Given the description of an element on the screen output the (x, y) to click on. 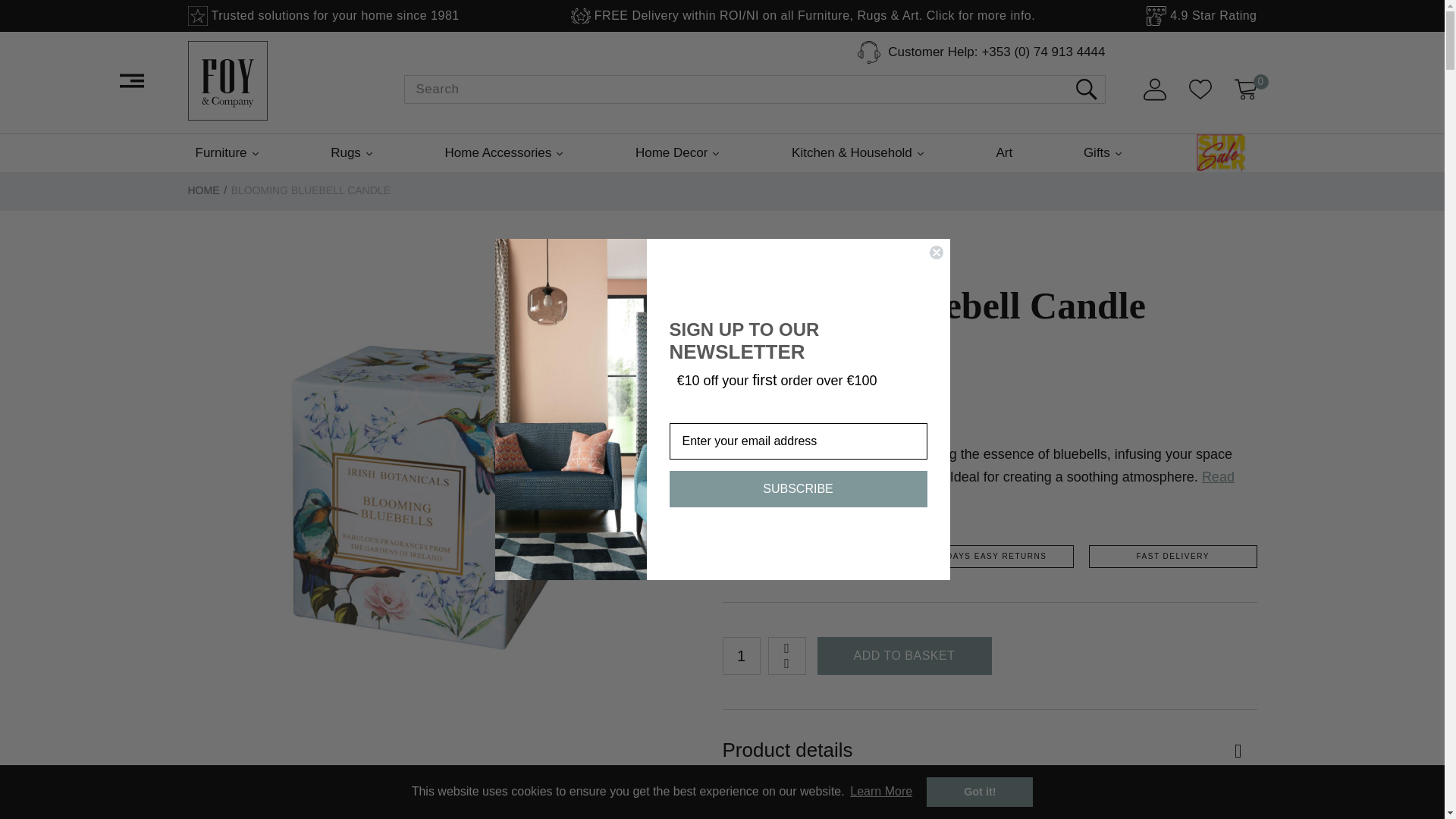
Got it! (979, 791)
4.9 Star Rating (1201, 15)
Trusted solutions for your home since 1981 (323, 15)
Learn More (880, 791)
Back to the frontpage (203, 190)
Home Accessories (505, 152)
Gifts (1103, 152)
Home Accessories (505, 152)
Rugs (352, 152)
Search (1086, 89)
Gifts (1103, 152)
Furniture (227, 152)
1 (741, 655)
Home Decor (677, 152)
Home Decor (677, 152)
